Given the description of an element on the screen output the (x, y) to click on. 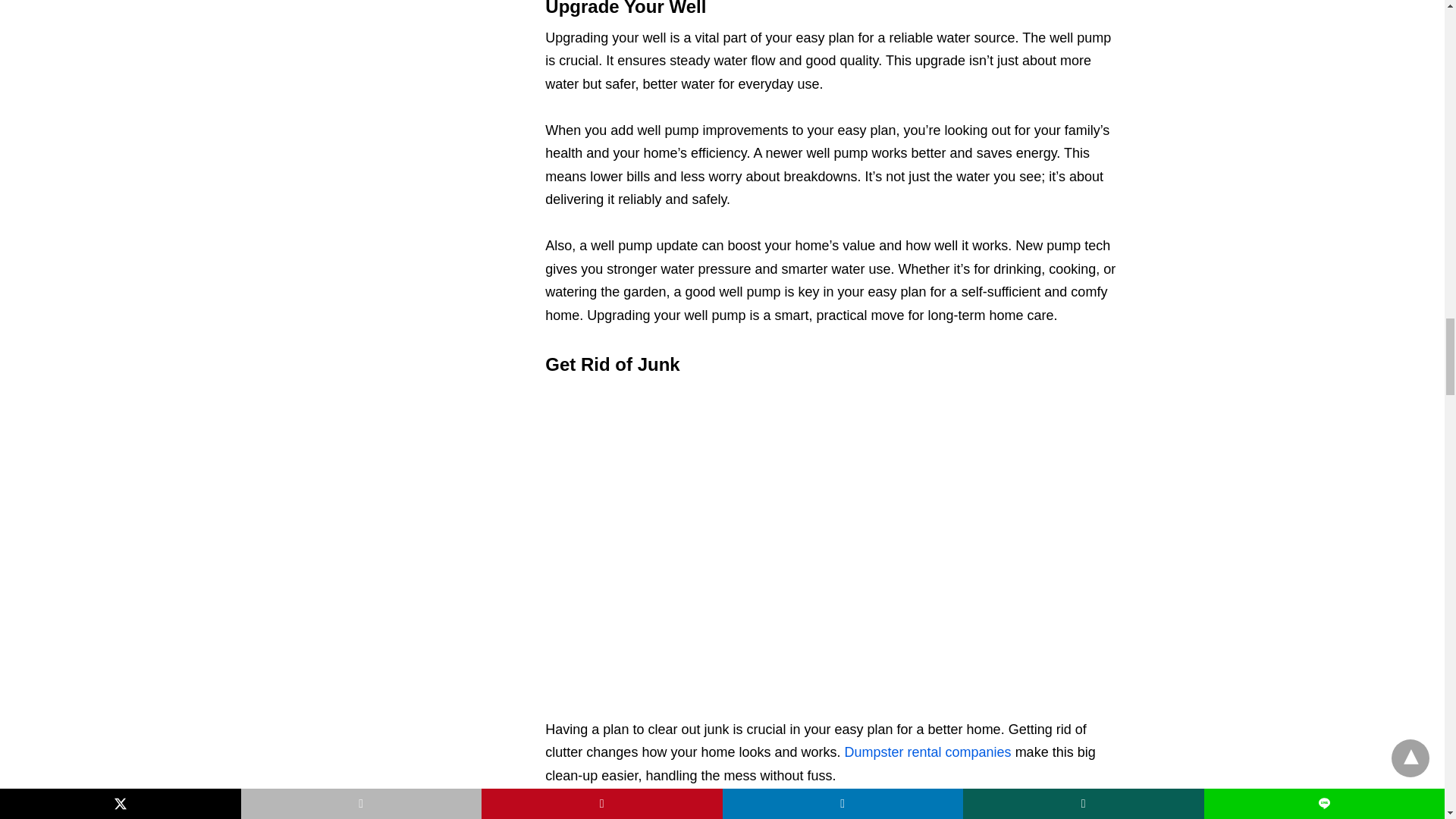
Dumpster rental companies (927, 752)
